Given the description of an element on the screen output the (x, y) to click on. 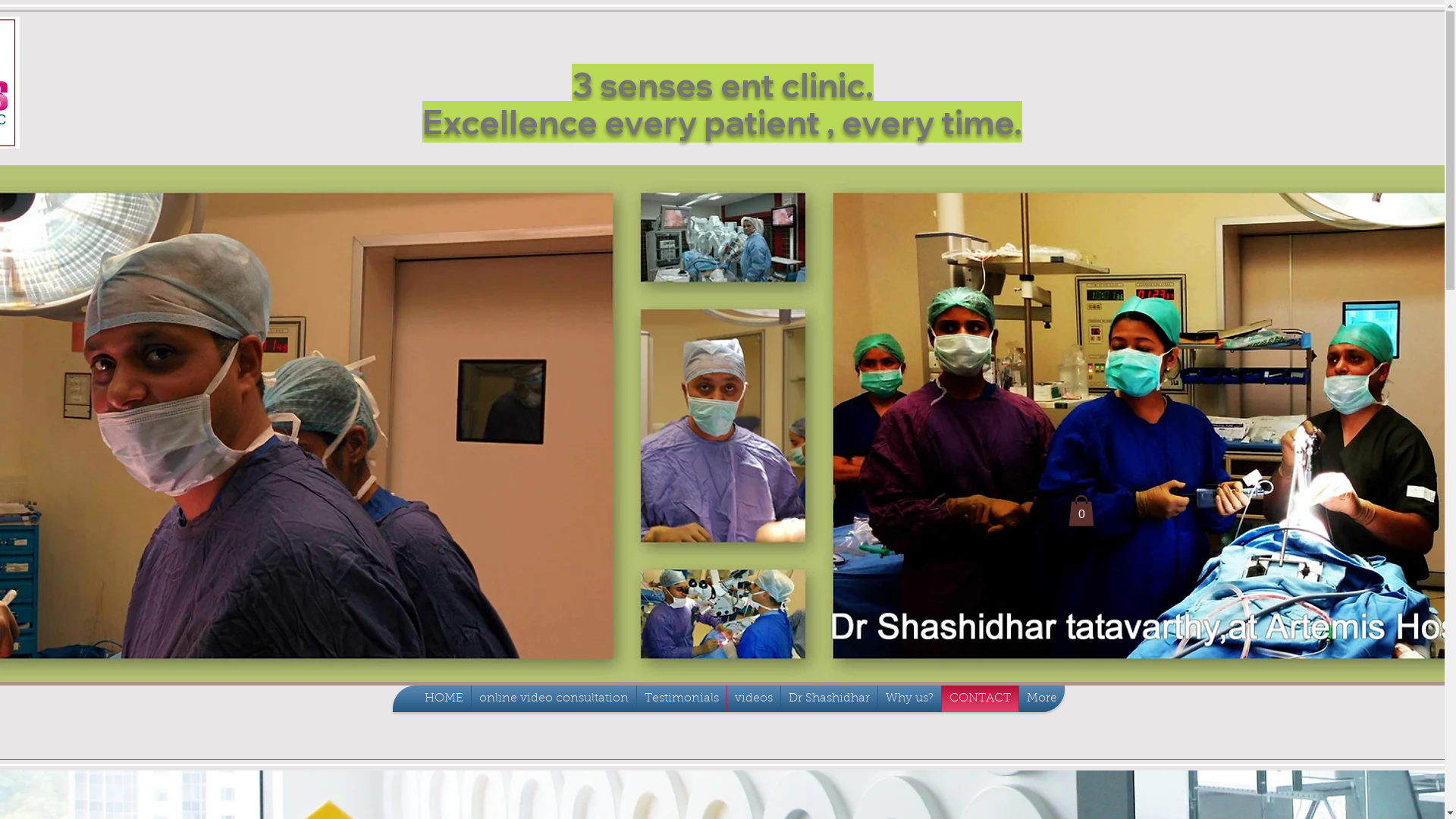
Facebook Like Element type: hover (451, 44)
Dr Shashidhar Element type: text (829, 698)
Testimonials Element type: text (681, 698)
online video consultation Element type: text (553, 698)
0 Element type: text (1080, 510)
CONTACT Element type: text (979, 698)
videos Element type: text (752, 698)
HOME Element type: text (443, 698)
Why us? Element type: text (909, 698)
